Given the description of an element on the screen output the (x, y) to click on. 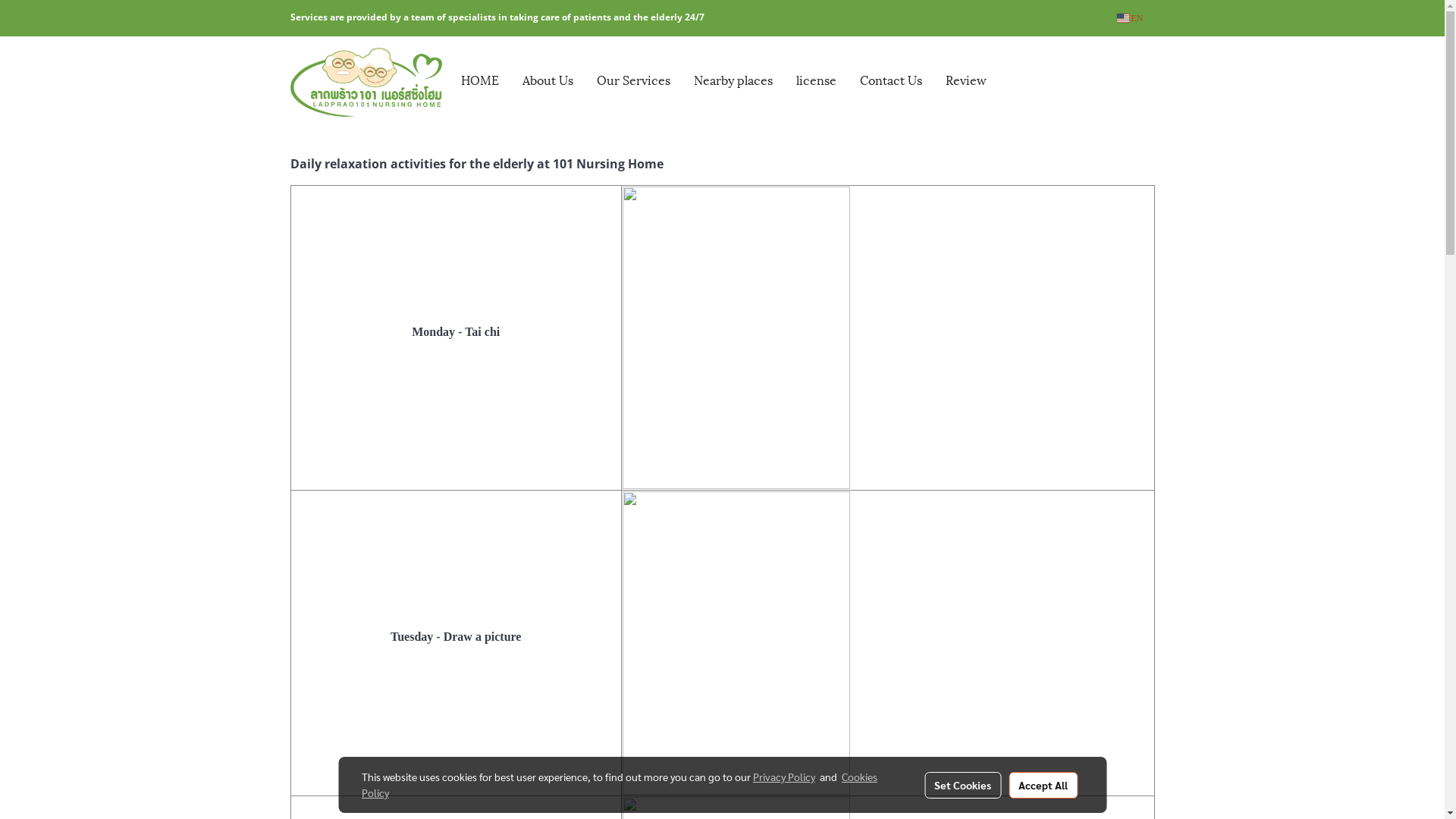
Privacy Policy Element type: text (784, 776)
EN Element type: text (1129, 18)
license Element type: text (815, 80)
About Us Element type: text (547, 80)
logo Element type: hover (365, 79)
Review Element type: text (965, 80)
Cookies Policy Element type: text (619, 784)
HOME Element type: text (478, 80)
Contact Us Element type: text (889, 80)
Nearby places Element type: text (733, 80)
Our Services Element type: text (633, 80)
Set Cookies Element type: text (962, 784)
Accept All Element type: text (1042, 784)
